Given the description of an element on the screen output the (x, y) to click on. 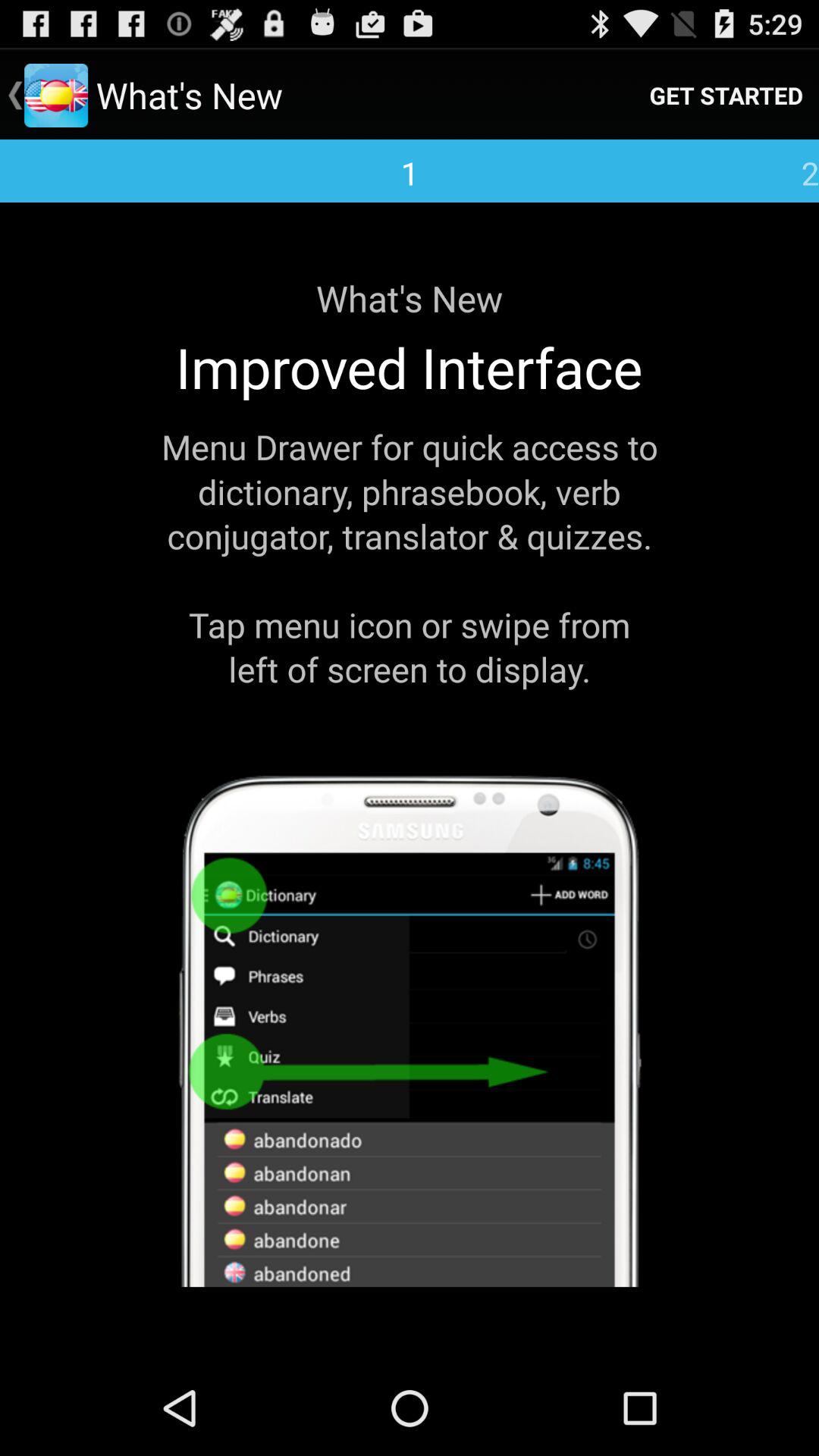
open the app to the right of 1 app (726, 95)
